Given the description of an element on the screen output the (x, y) to click on. 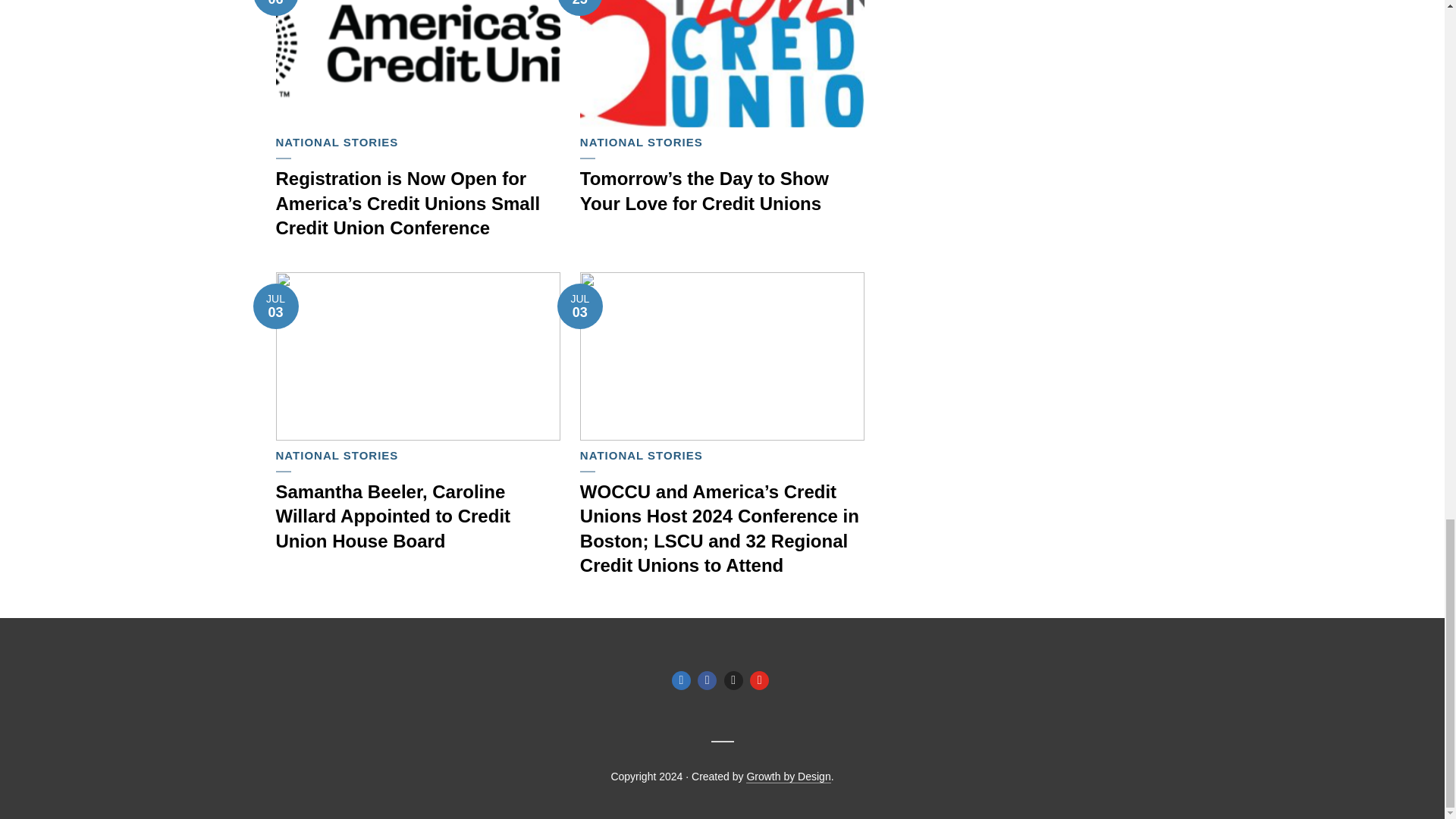
YouTube (758, 680)
Linkedin (680, 680)
Facebook (706, 680)
